Given the description of an element on the screen output the (x, y) to click on. 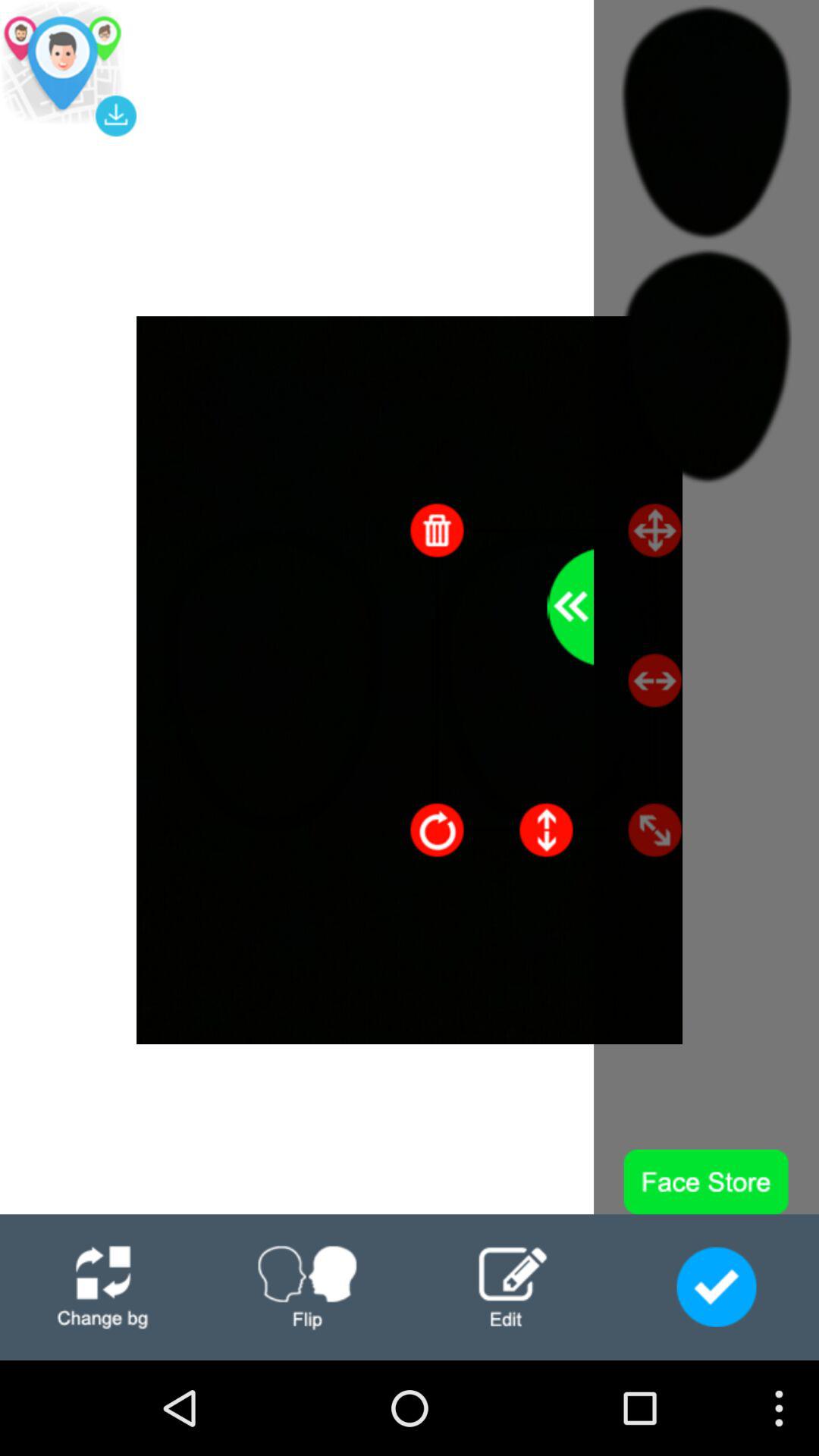
face store page (716, 1286)
